Given the description of an element on the screen output the (x, y) to click on. 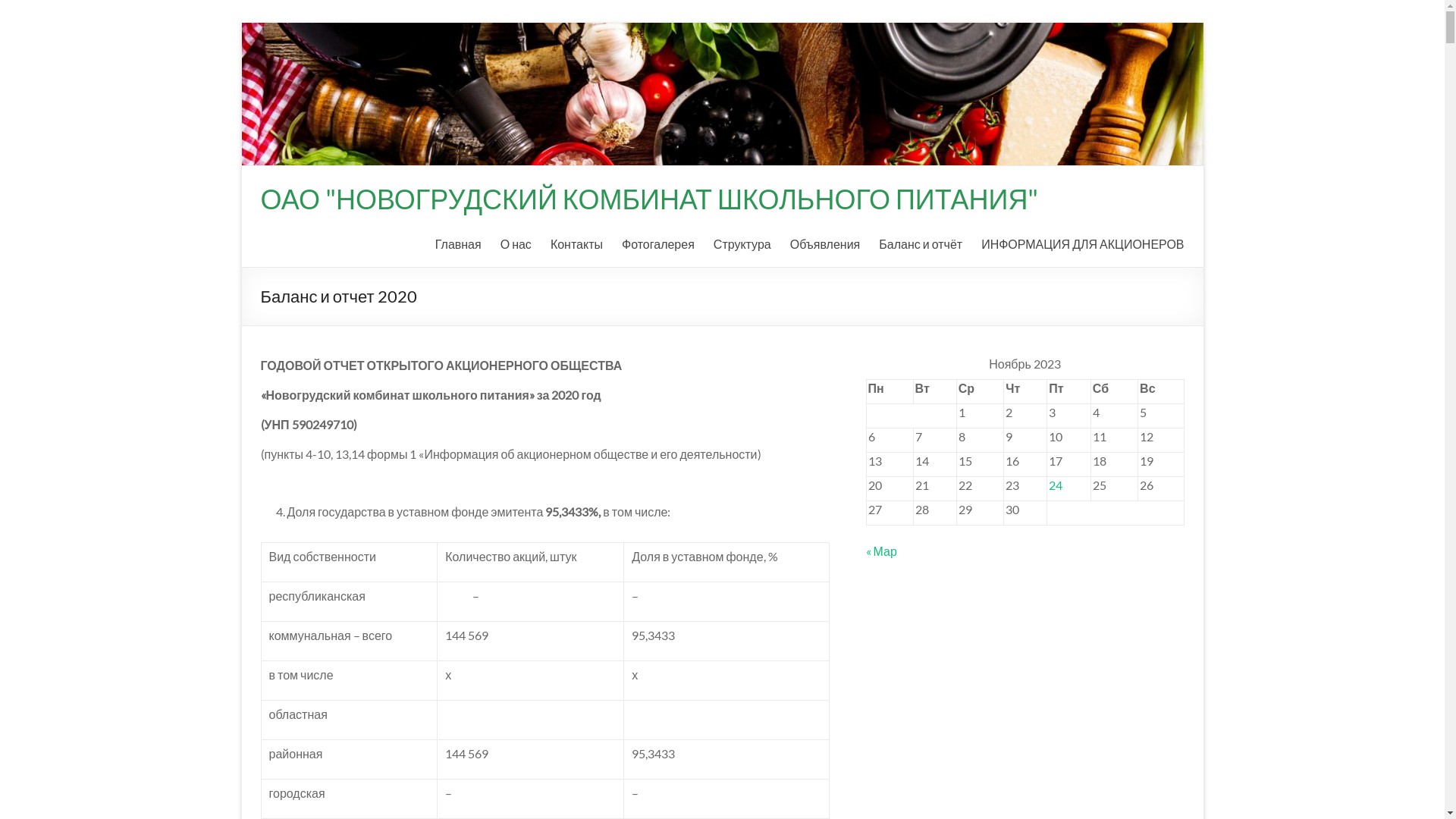
Skip to content Element type: text (241, 21)
